Given the description of an element on the screen output the (x, y) to click on. 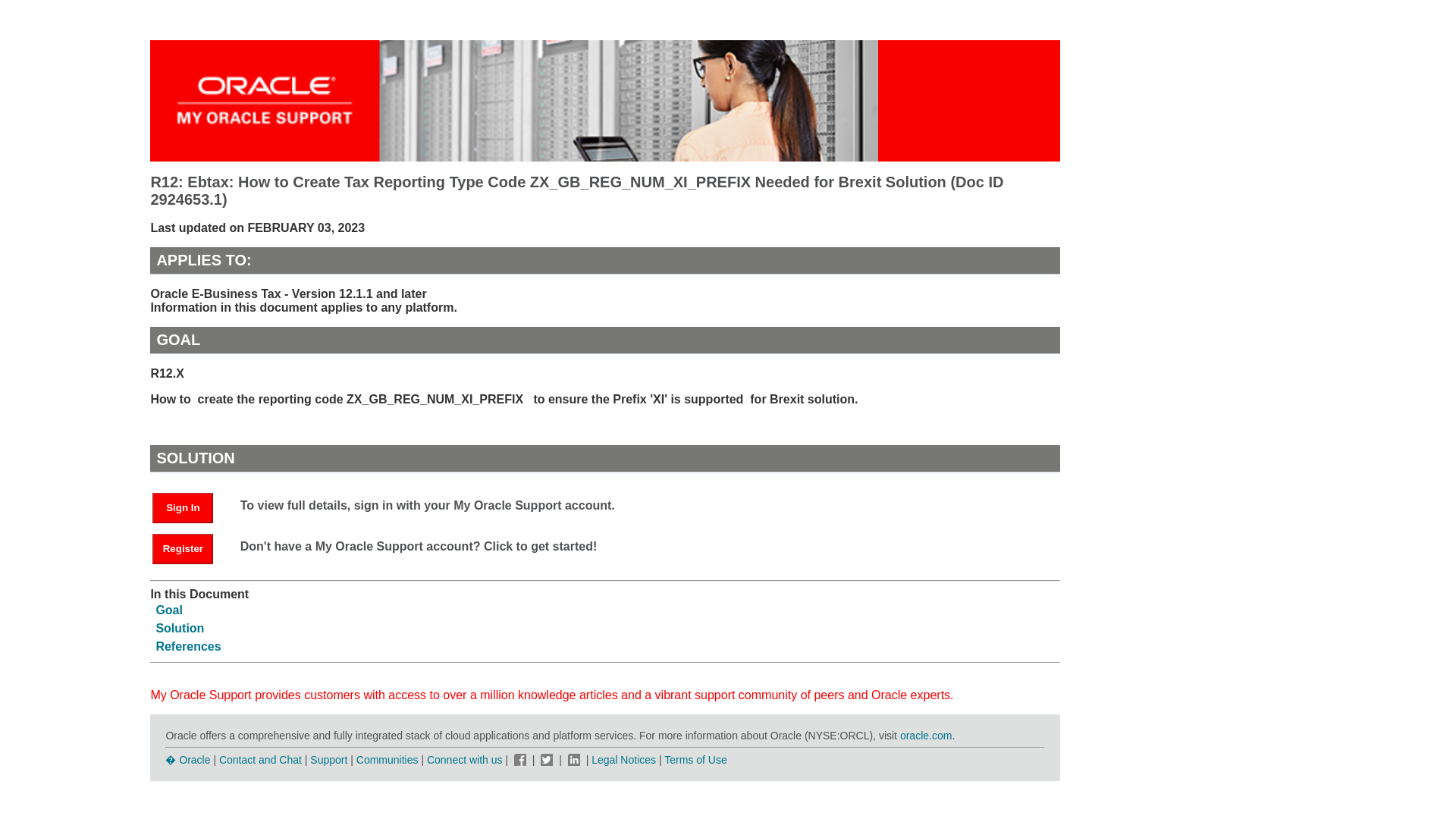
oracle.com (925, 735)
oracle.com (925, 735)
Register (190, 547)
Register (182, 548)
Terms of Use (694, 759)
Contact and Chat (260, 759)
Legal Notices (623, 759)
Sign In (182, 508)
Communities (387, 759)
References (188, 645)
